Given the description of an element on the screen output the (x, y) to click on. 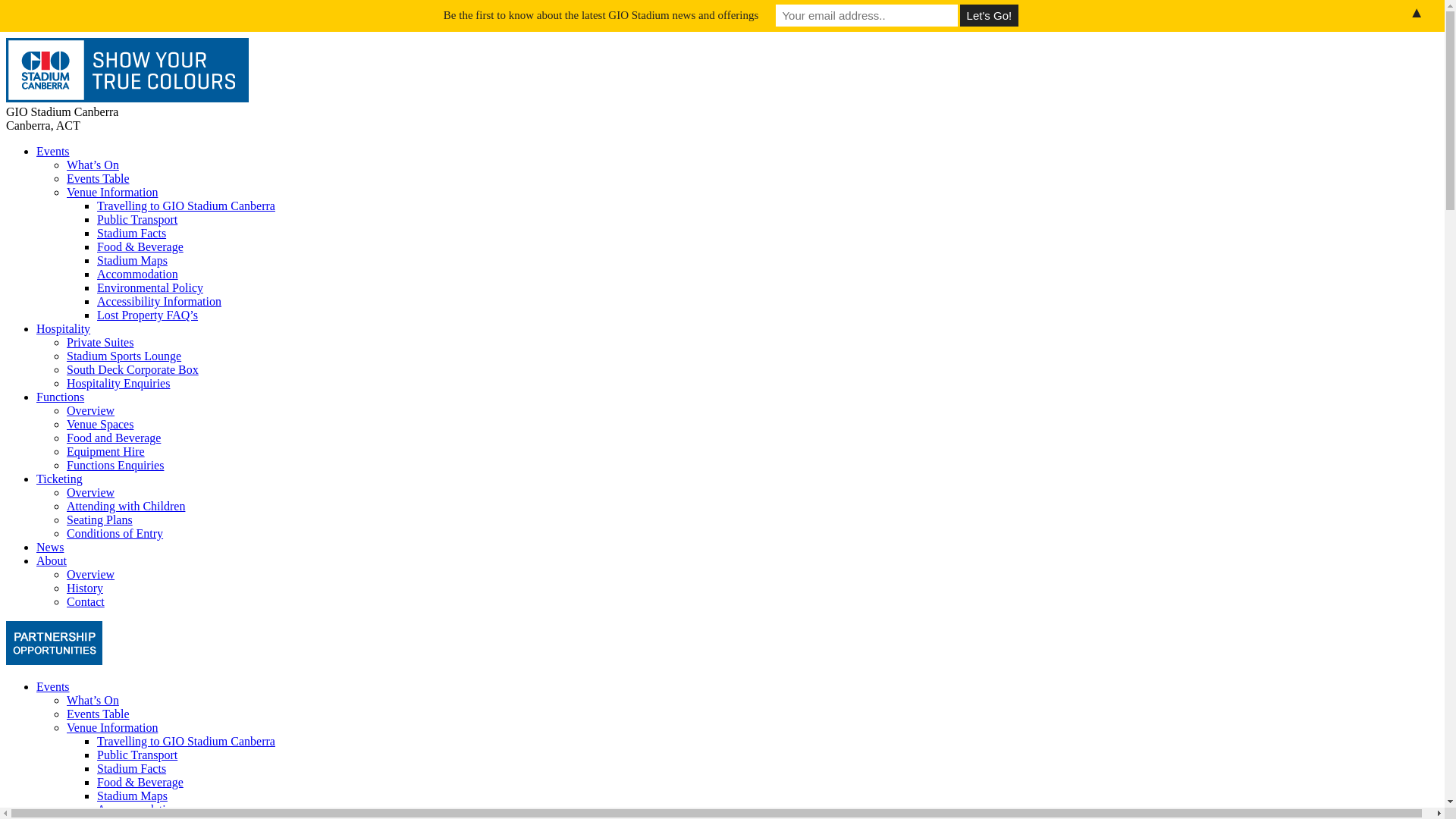
Food & Beverage Element type: text (140, 781)
Private Suites Element type: text (99, 341)
Accessibility Information Element type: text (159, 300)
News Element type: text (49, 546)
Accommodation Element type: text (137, 273)
Stadium Facts Element type: text (131, 232)
Hospitality Element type: text (63, 328)
Functions Enquiries Element type: text (114, 464)
Venue Information Element type: text (111, 727)
Stadium Maps Element type: text (132, 795)
Functions Element type: text (60, 396)
Seating Plans Element type: text (99, 519)
Overview Element type: text (90, 492)
About Element type: text (51, 560)
Accommodation Element type: text (137, 809)
Let's Go! Element type: text (989, 15)
Stadium Facts Element type: text (131, 768)
Stadium Sports Lounge Element type: text (123, 355)
Equipment Hire Element type: text (105, 451)
Venue Information Element type: text (111, 191)
Events Table Element type: text (97, 178)
Travelling to GIO Stadium Canberra Element type: text (186, 205)
South Deck Corporate Box Element type: text (132, 369)
Public Transport Element type: text (137, 754)
Conditions of Entry Element type: text (114, 533)
Attending with Children Element type: text (125, 505)
Public Transport Element type: text (137, 219)
Food & Beverage Element type: text (140, 246)
Overview Element type: text (90, 573)
Events Element type: text (52, 150)
Contact Element type: text (85, 601)
Travelling to GIO Stadium Canberra Element type: text (186, 740)
Events Element type: text (52, 686)
Food and Beverage Element type: text (113, 437)
Hospitality Enquiries Element type: text (117, 382)
Ticketing Element type: text (59, 478)
Events Table Element type: text (97, 713)
History Element type: text (84, 587)
Venue Spaces Element type: text (99, 423)
Stadium Maps Element type: text (132, 260)
Overview Element type: text (90, 410)
Environmental Policy Element type: text (150, 287)
